Given the description of an element on the screen output the (x, y) to click on. 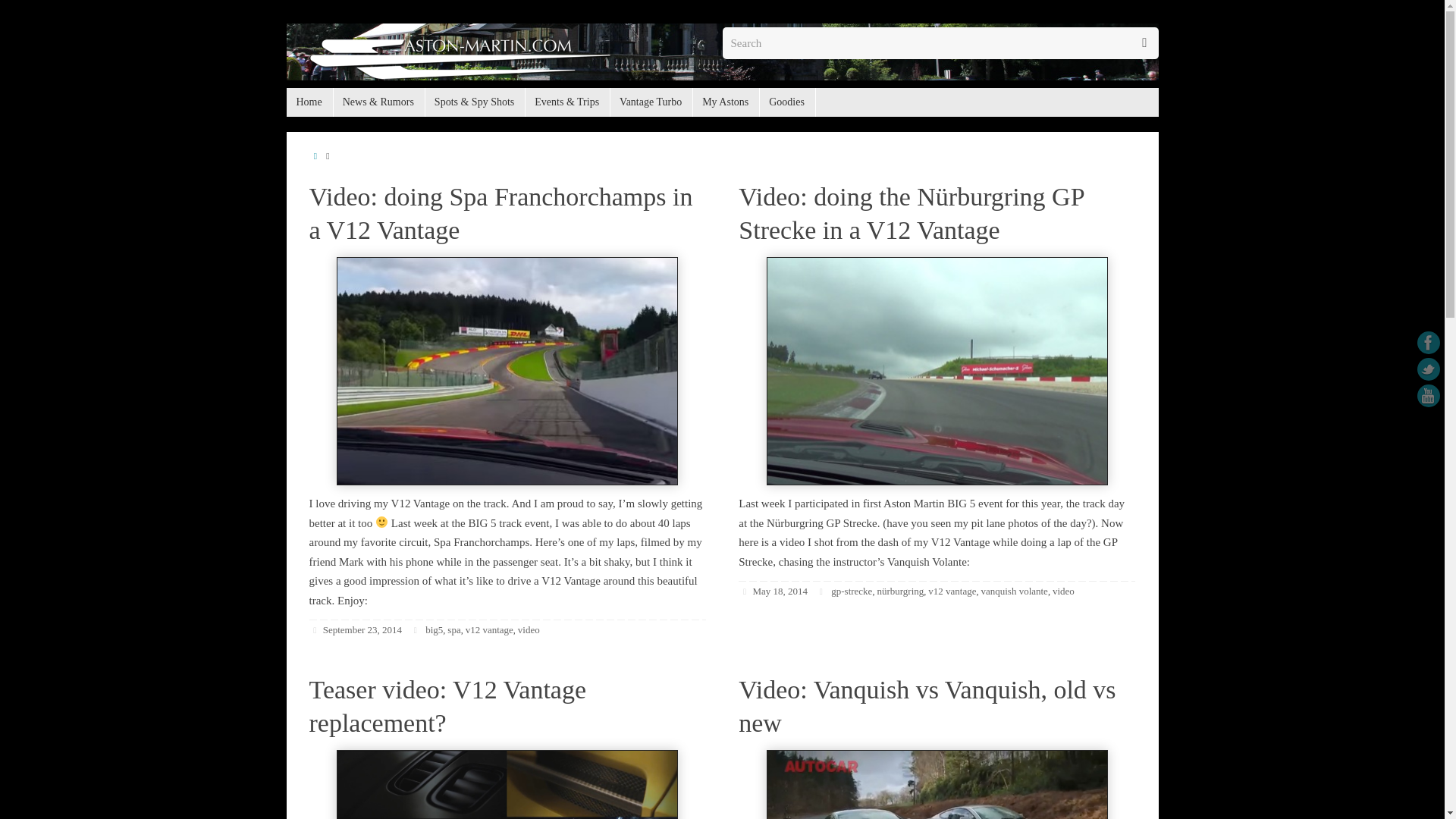
September 23, 2014 (362, 629)
v12 vantage (489, 629)
vanquish volante (1012, 591)
May 18, 2014 (780, 591)
My Astons (725, 102)
Video: doing Spa Franchorchamps in a V12 Vantage (507, 371)
Video: doing Spa Franchorchamps in a V12 Vantage (500, 213)
Tags (823, 591)
Teaser video: V12 Vantage replacement? (447, 706)
Tags (417, 629)
